Given the description of an element on the screen output the (x, y) to click on. 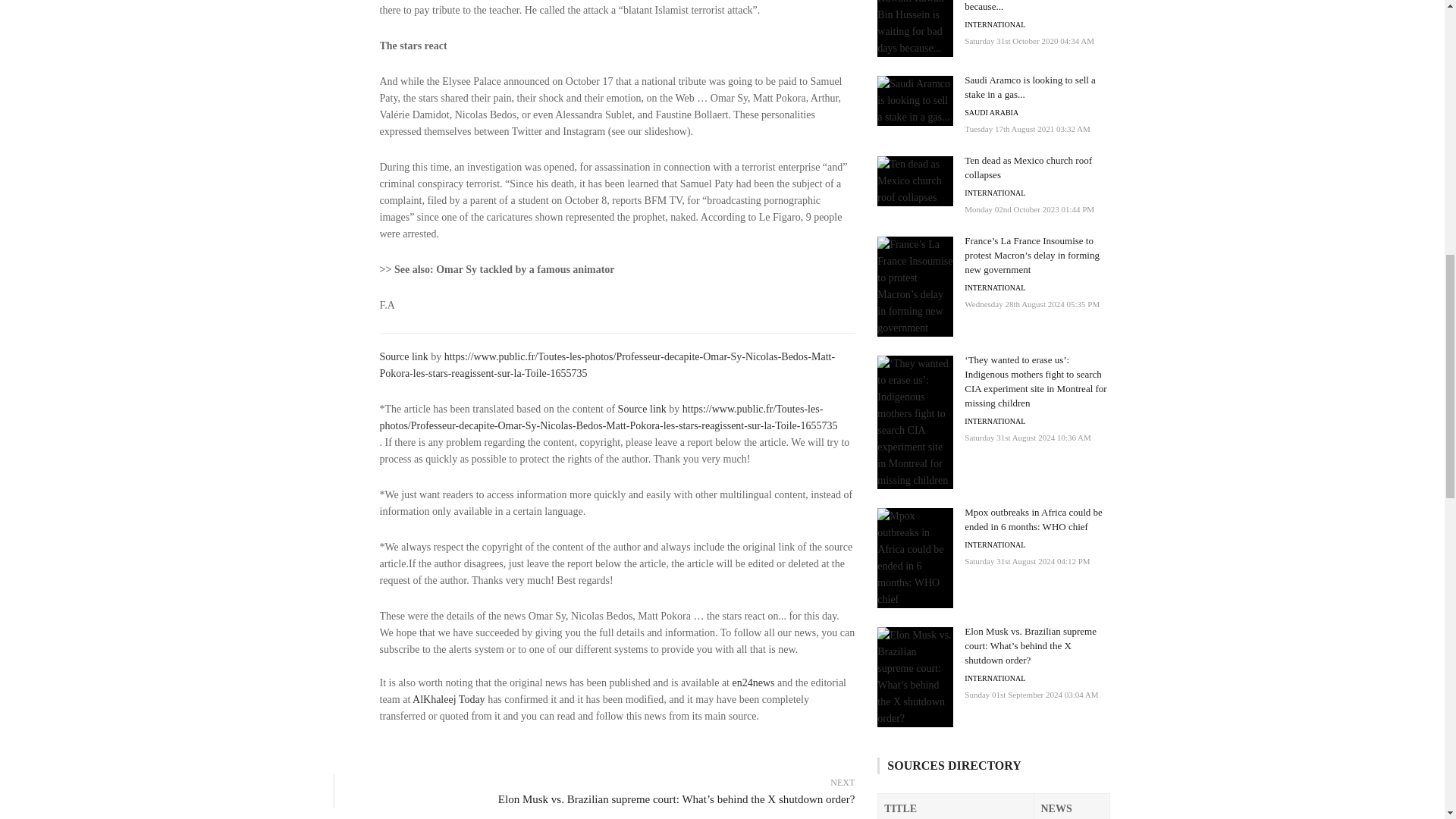
en24news (753, 682)
Source link (403, 356)
AlKhaleej Today (448, 699)
Source link (641, 408)
